Given the description of an element on the screen output the (x, y) to click on. 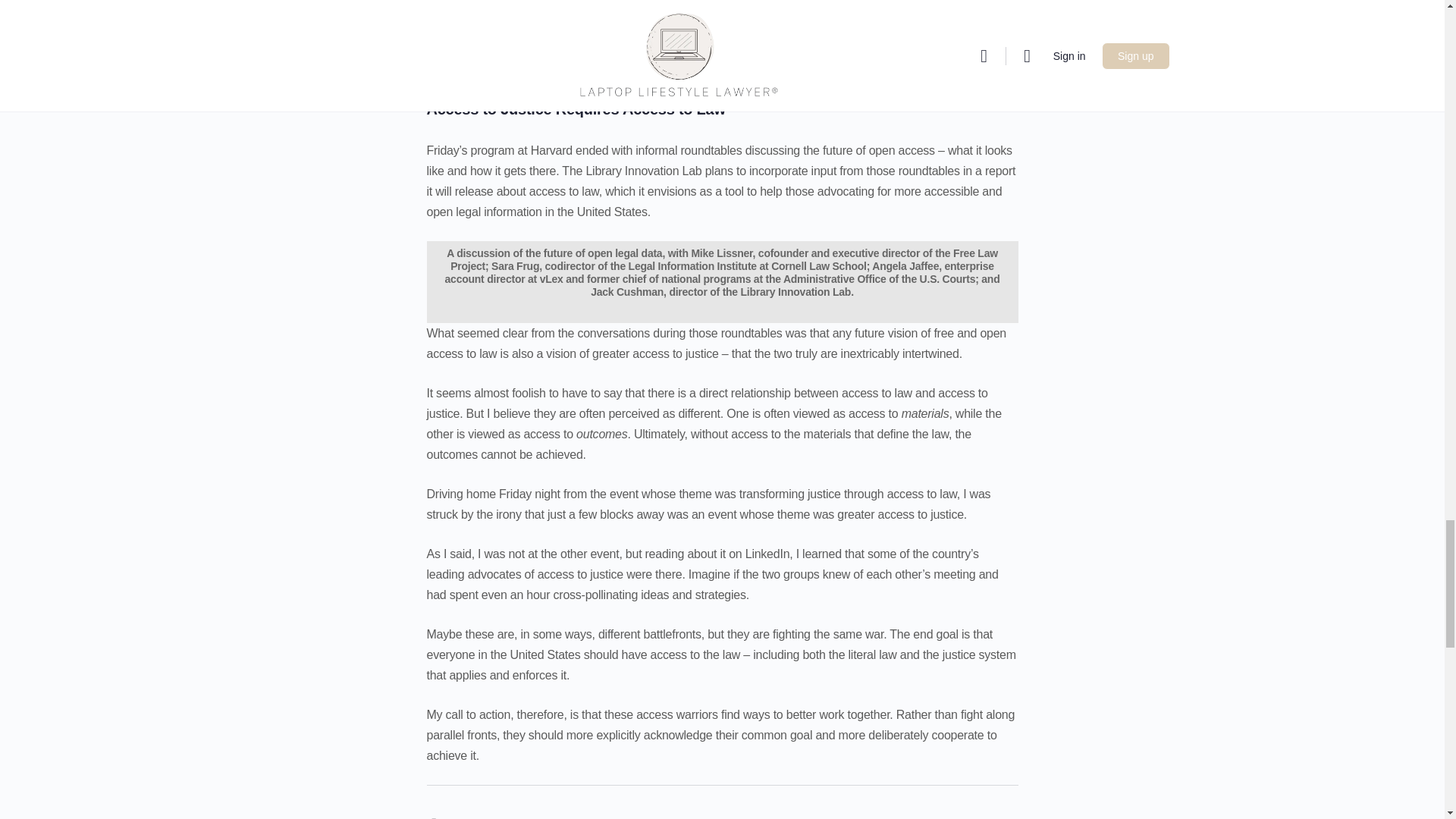
The Free Law Project (610, 9)
Legal Information Institute (692, 7)
